Given the description of an element on the screen output the (x, y) to click on. 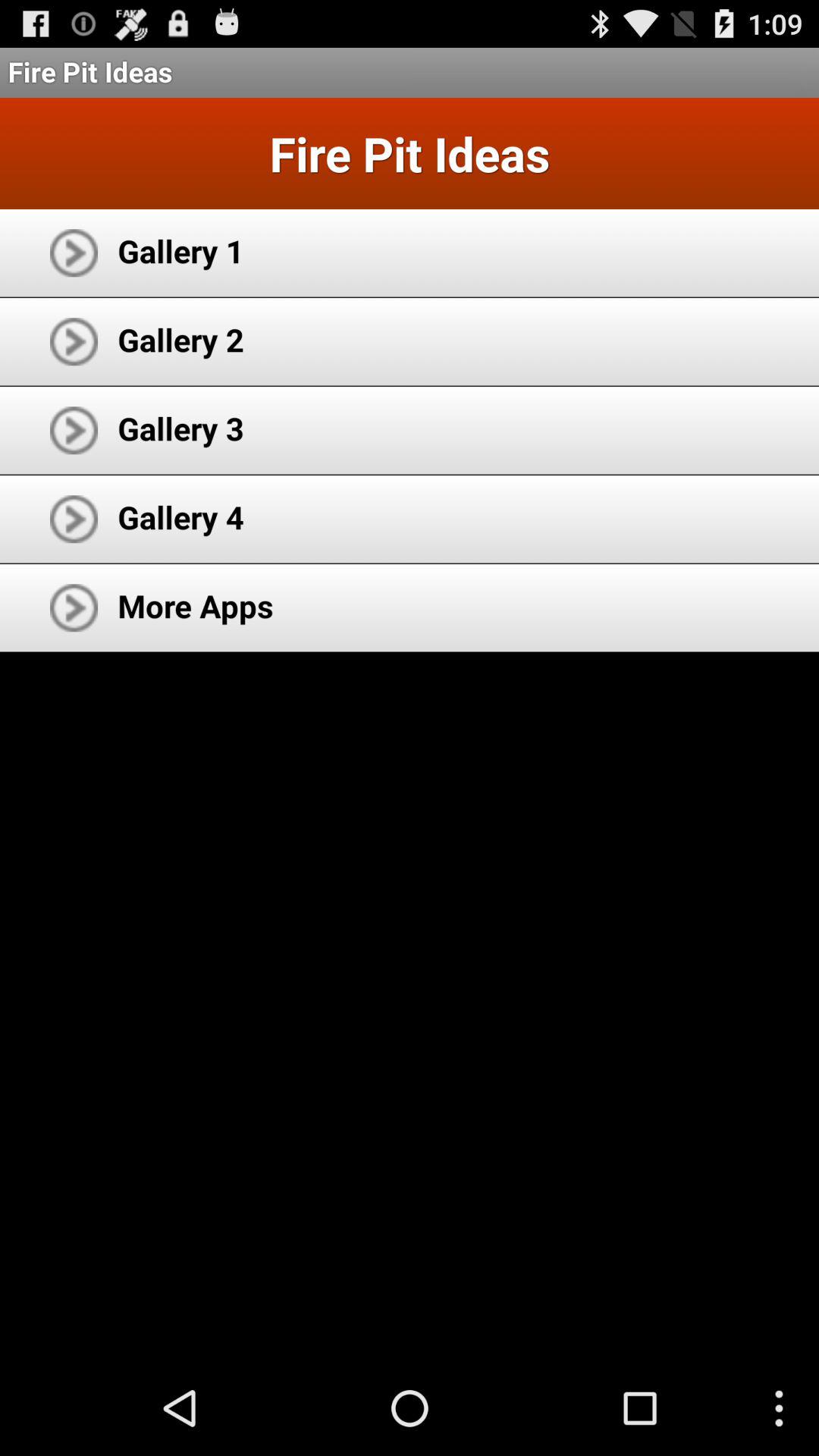
open the item above gallery 4 app (180, 427)
